Given the description of an element on the screen output the (x, y) to click on. 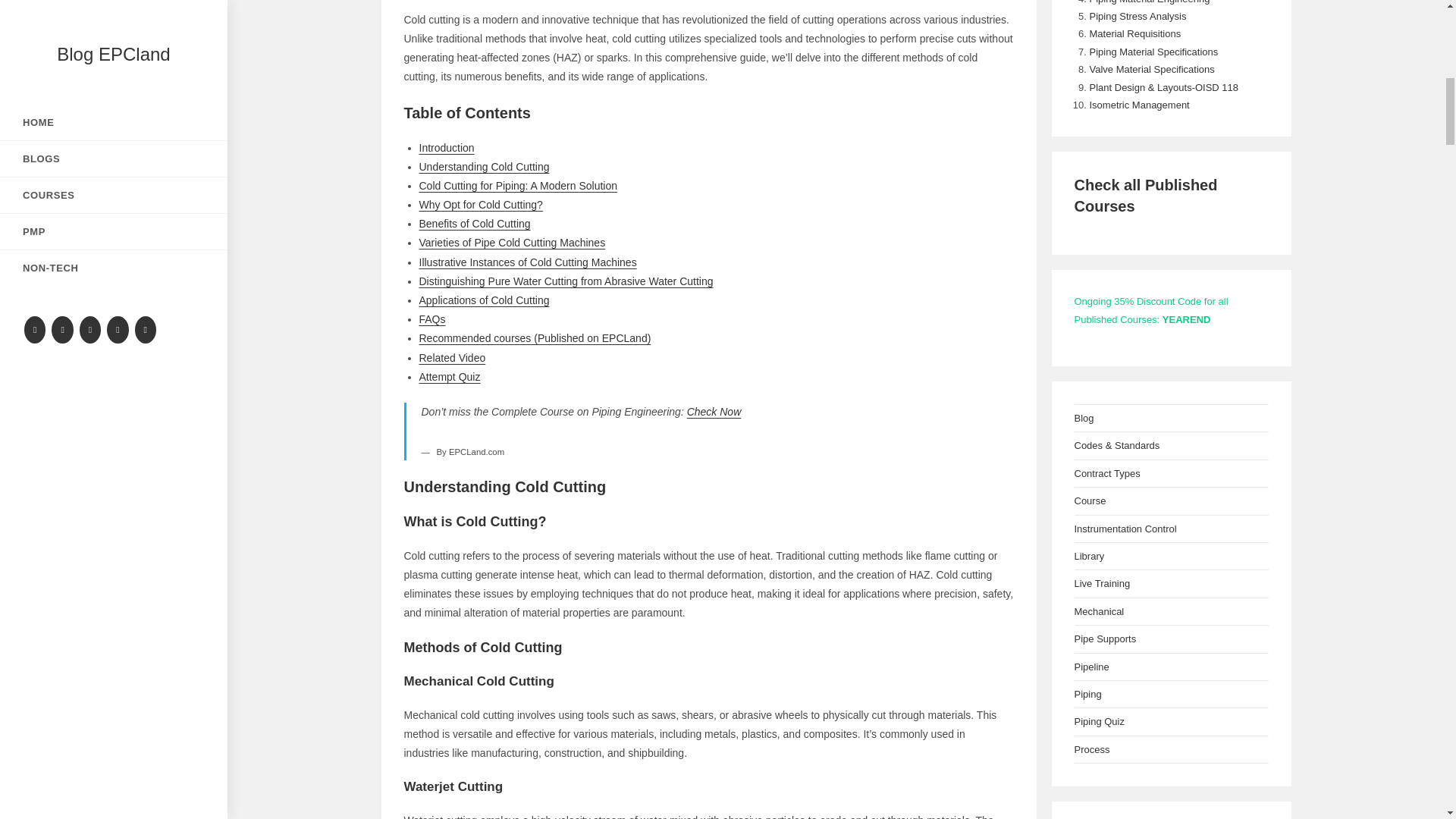
Introduction (446, 146)
Why Opt for Cold Cutting? (480, 204)
Benefits of Cold Cutting (474, 223)
Cold Cutting for Piping: A Modern Solution (518, 185)
Understanding Cold Cutting (483, 166)
